Given the description of an element on the screen output the (x, y) to click on. 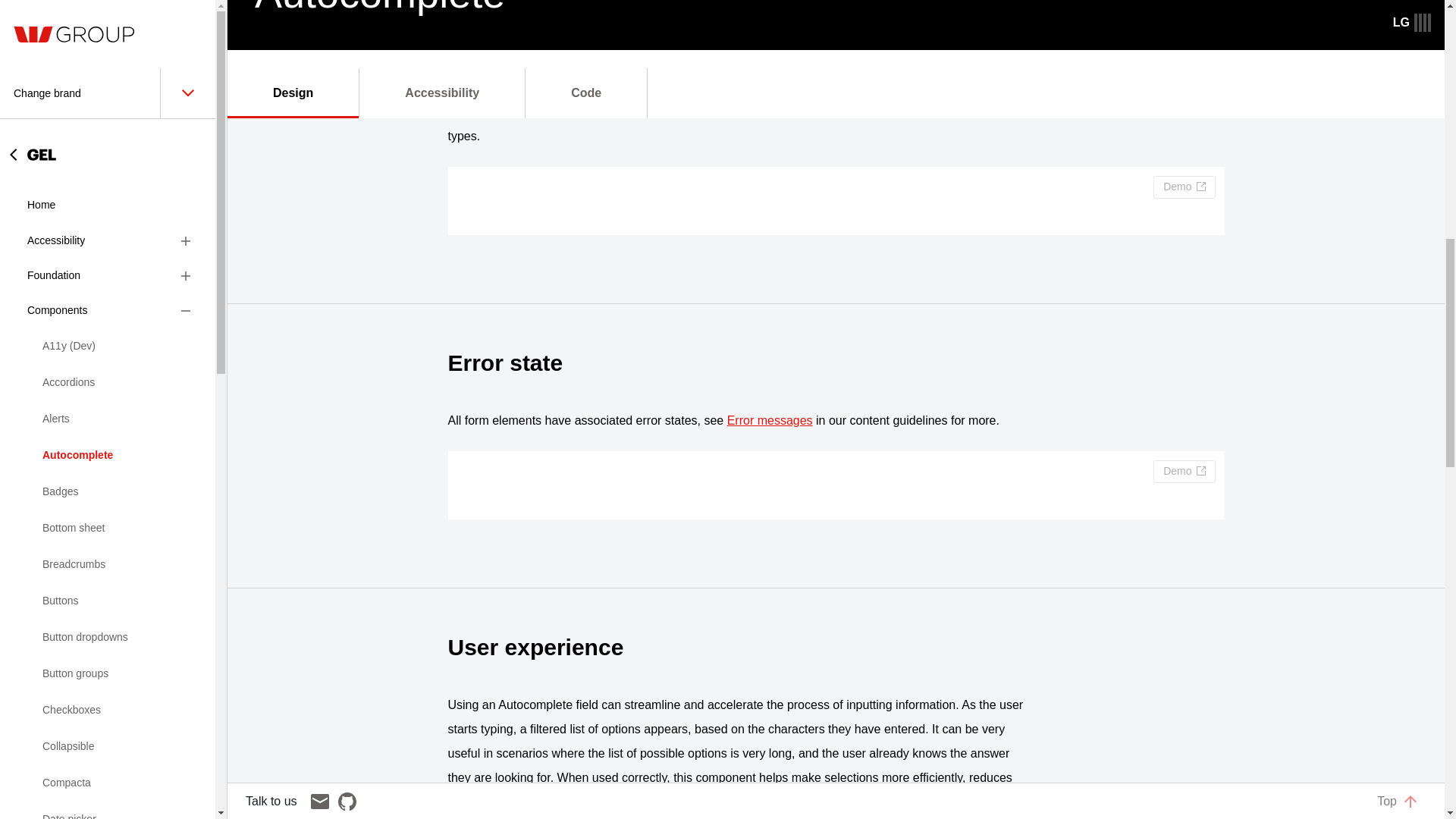
Date picker (107, 9)
Progress rope (107, 437)
Lists (107, 218)
Pagination (107, 291)
Selector (107, 583)
Modals (107, 255)
Switches (107, 619)
Radios (107, 473)
Repeater (107, 510)
Input groups (107, 145)
